Given the description of an element on the screen output the (x, y) to click on. 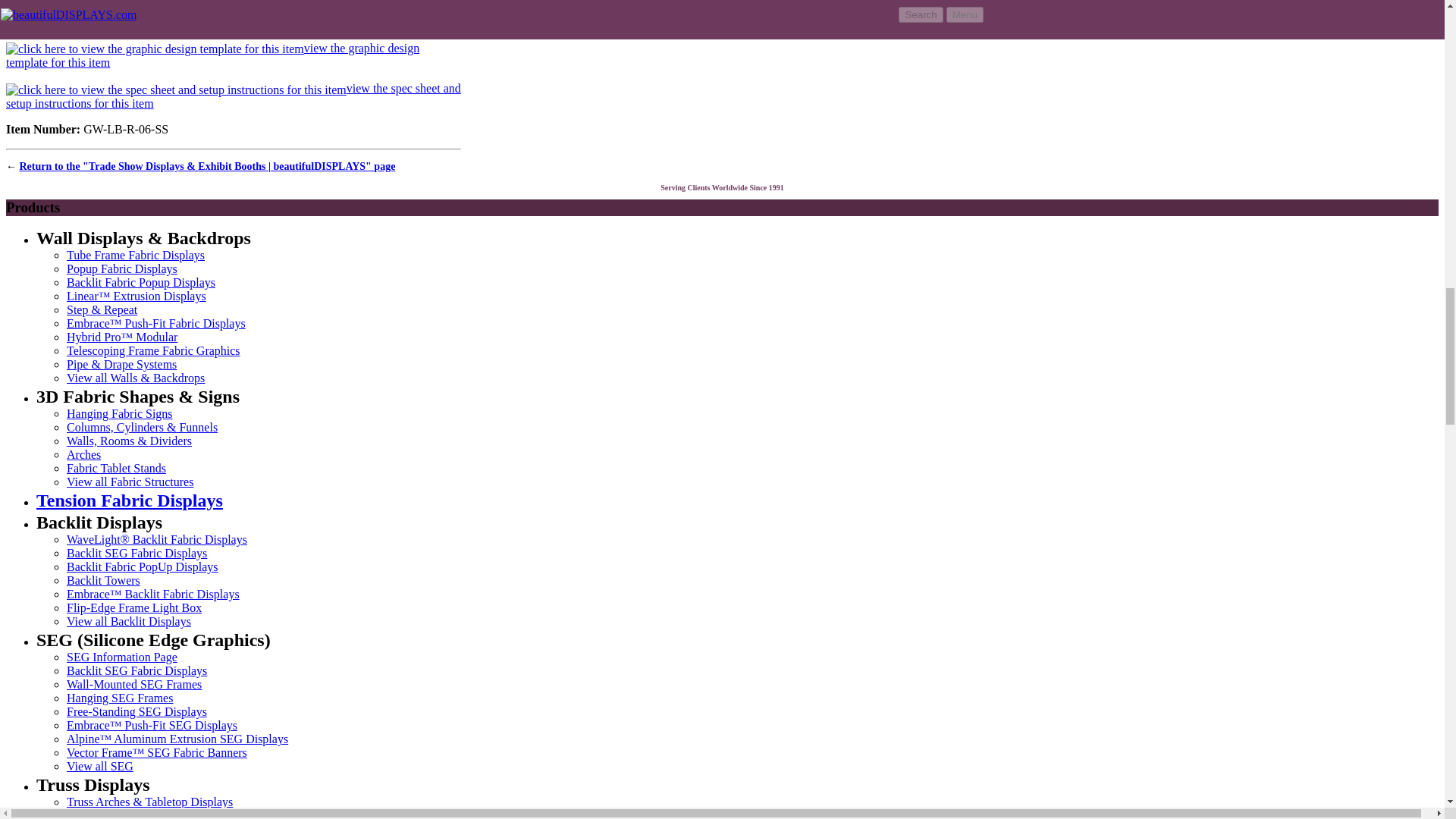
view the spec sheet and setup instructions for this item (233, 94)
click here to view the graphic design template for this item (212, 54)
click here to view the graphic design template for this item (154, 49)
view the graphic design template for this item (212, 54)
